Given the description of an element on the screen output the (x, y) to click on. 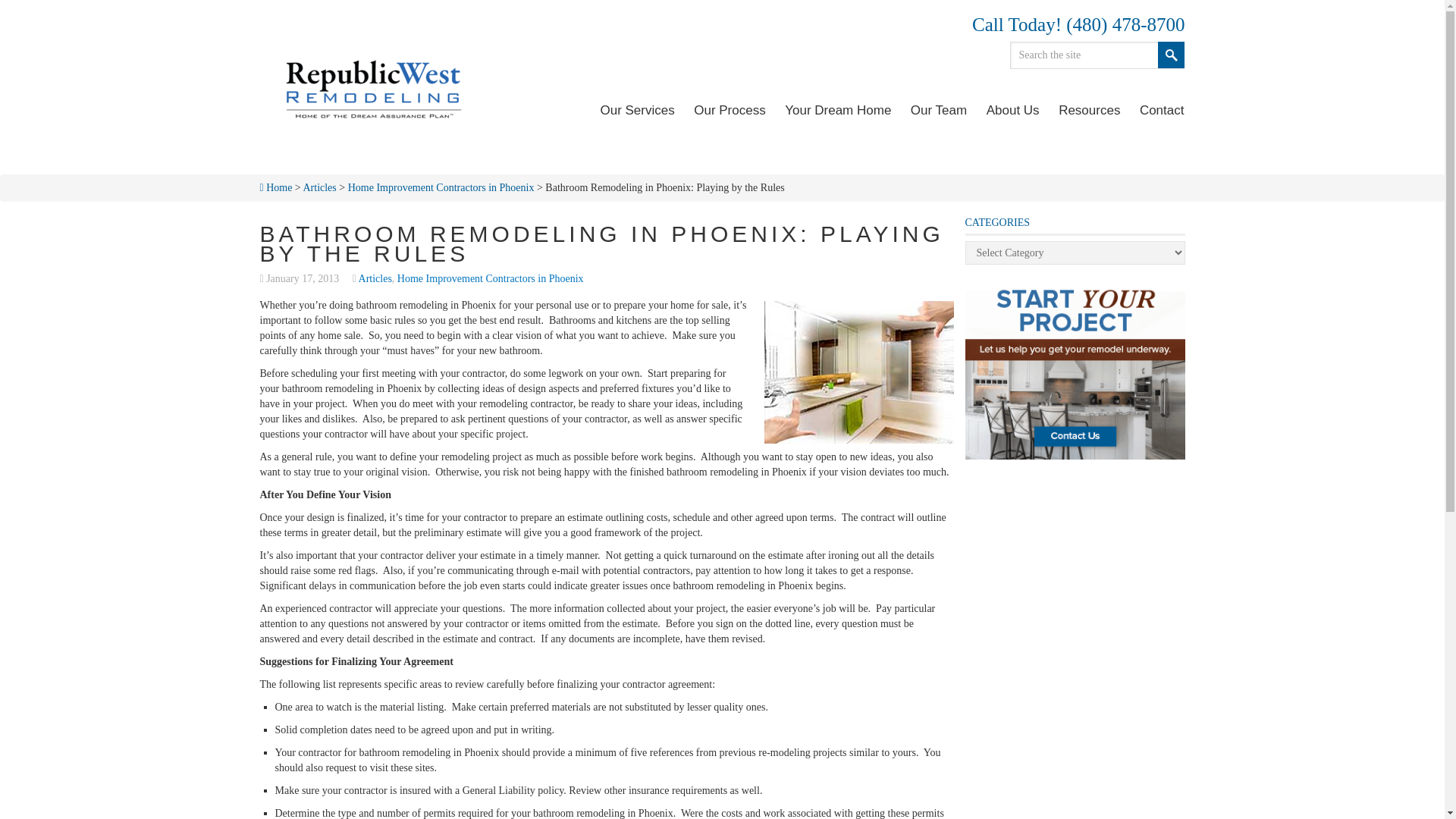
Resources (1088, 109)
View all posts in Home Improvement Contractors in Phoenix (490, 278)
About Us (1012, 109)
Our Services (636, 109)
View all posts in Articles (374, 278)
Your Dream Home (837, 109)
Our Process (729, 109)
Our Team (938, 109)
Search (1171, 54)
Search (1171, 54)
